Given the description of an element on the screen output the (x, y) to click on. 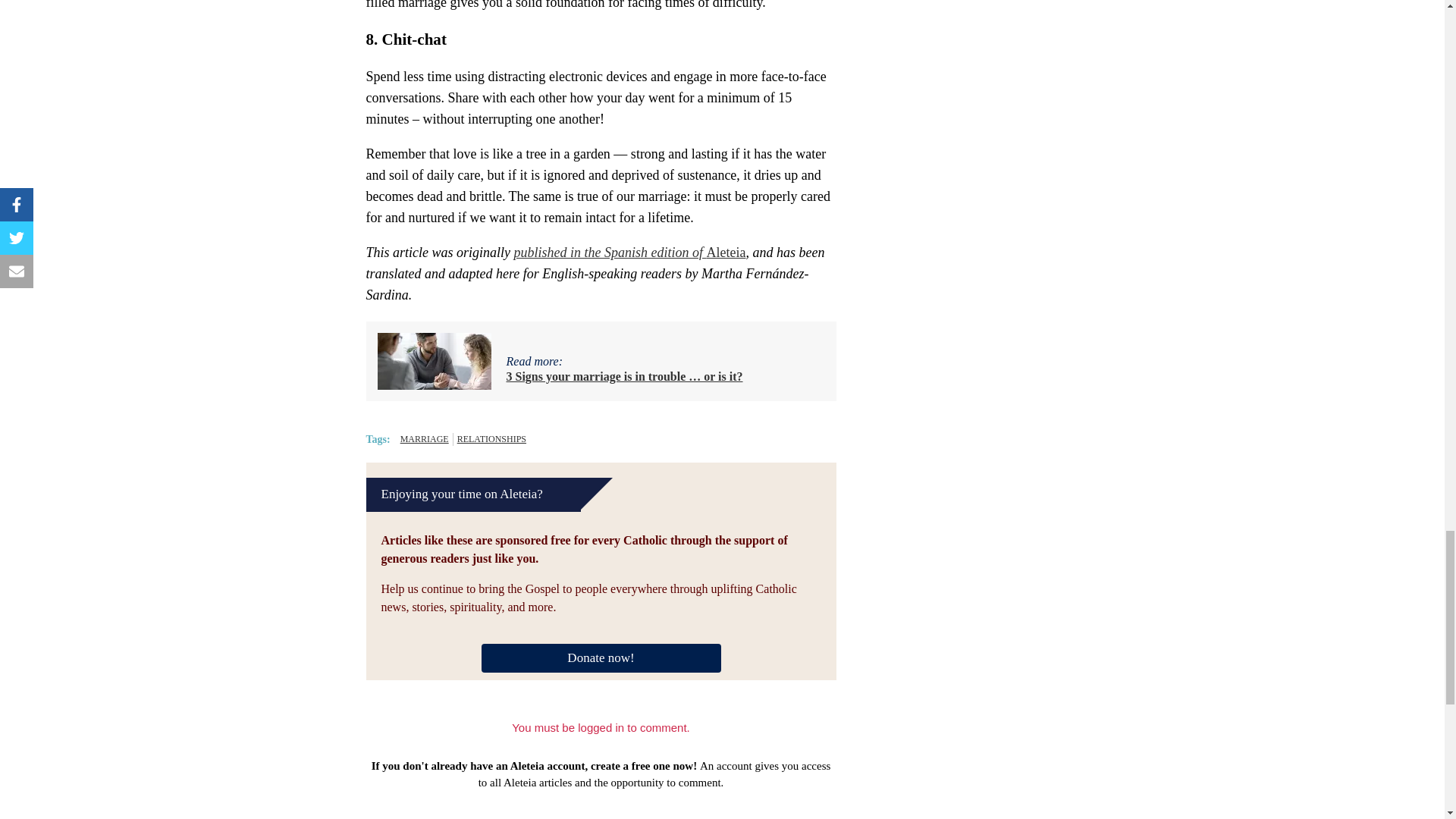
published in the Spanish edition of Aleteia (629, 252)
